Given the description of an element on the screen output the (x, y) to click on. 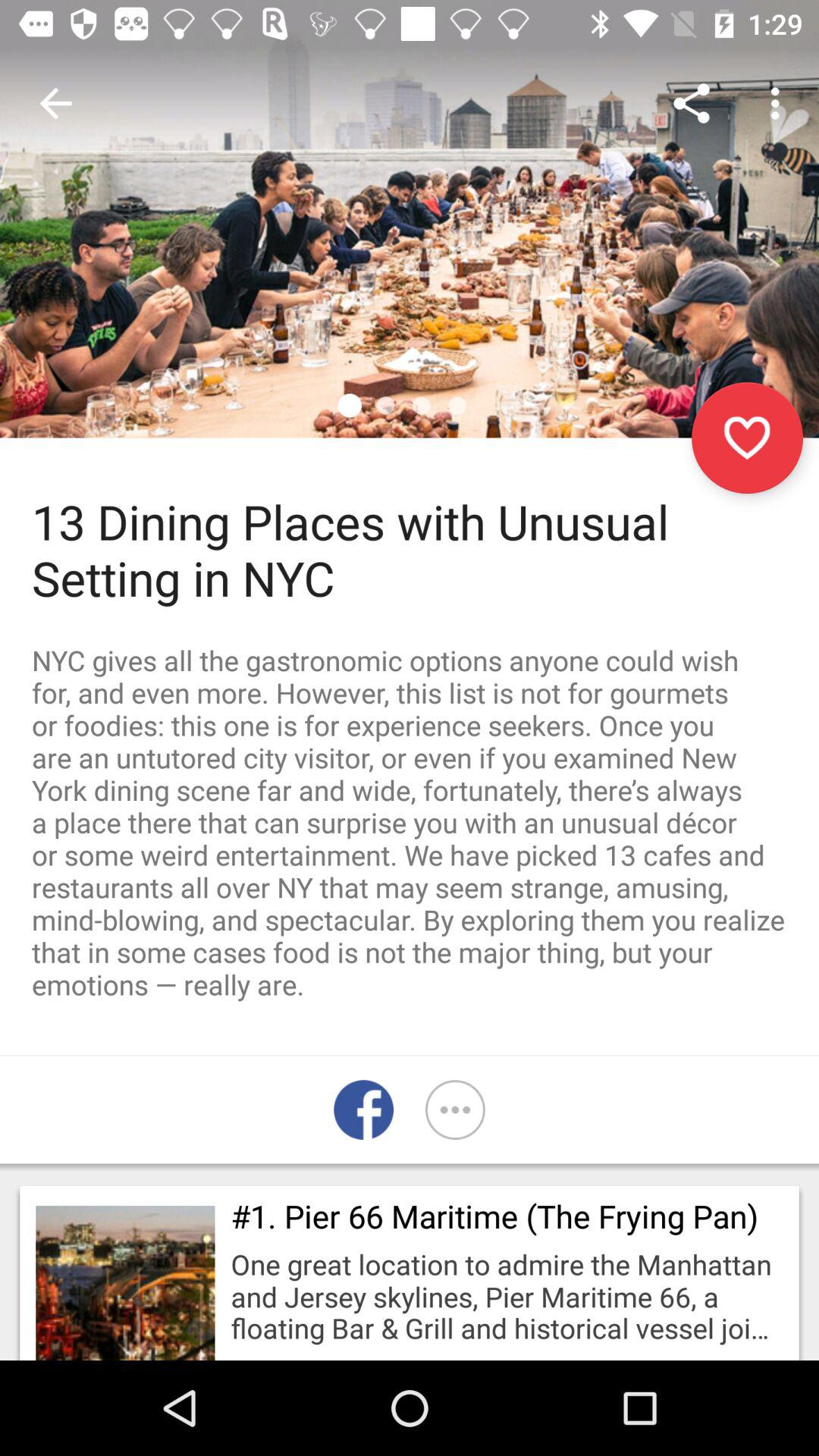
share on facebook (363, 1109)
